Given the description of an element on the screen output the (x, y) to click on. 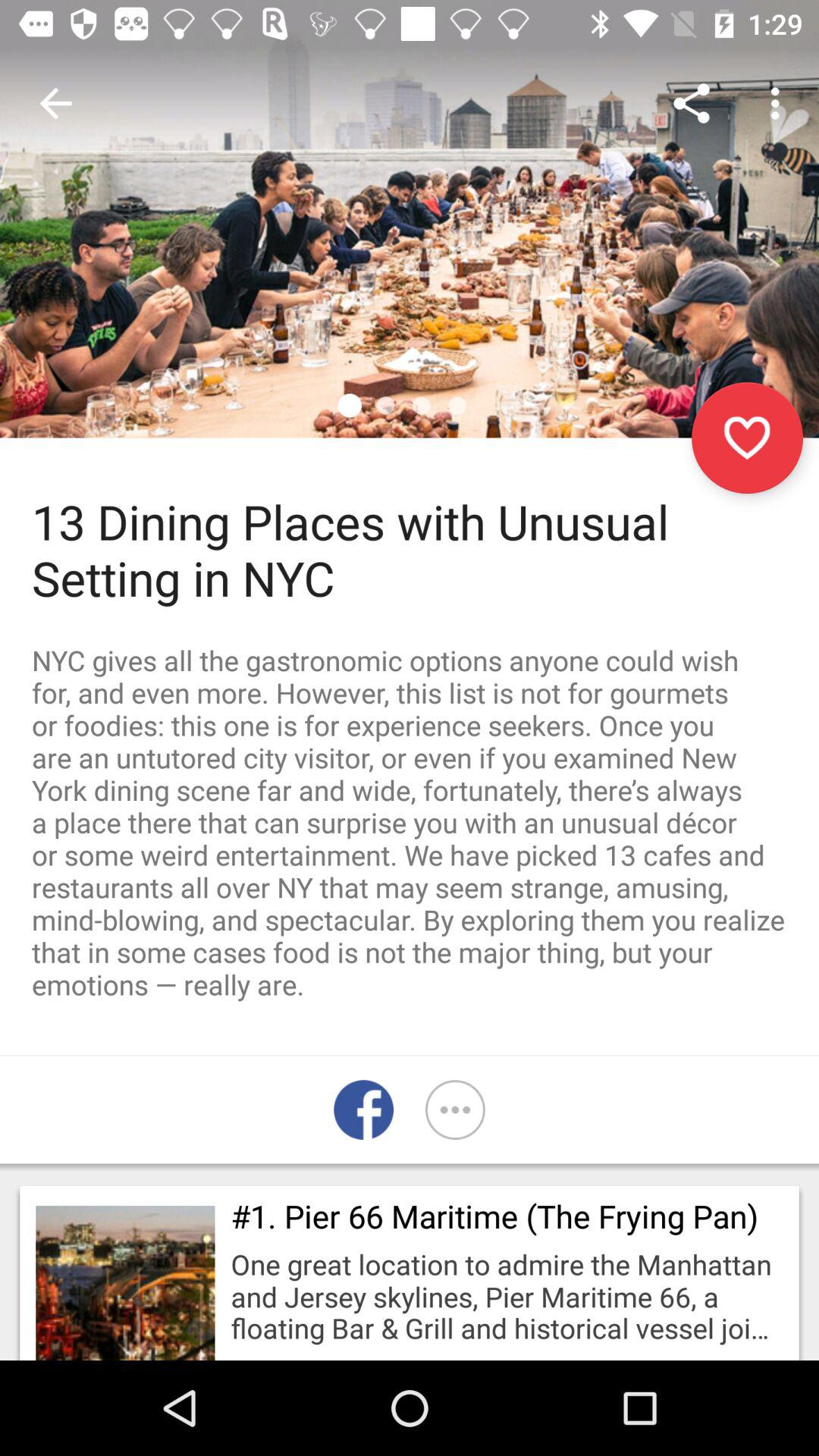
share on facebook (363, 1109)
